Given the description of an element on the screen output the (x, y) to click on. 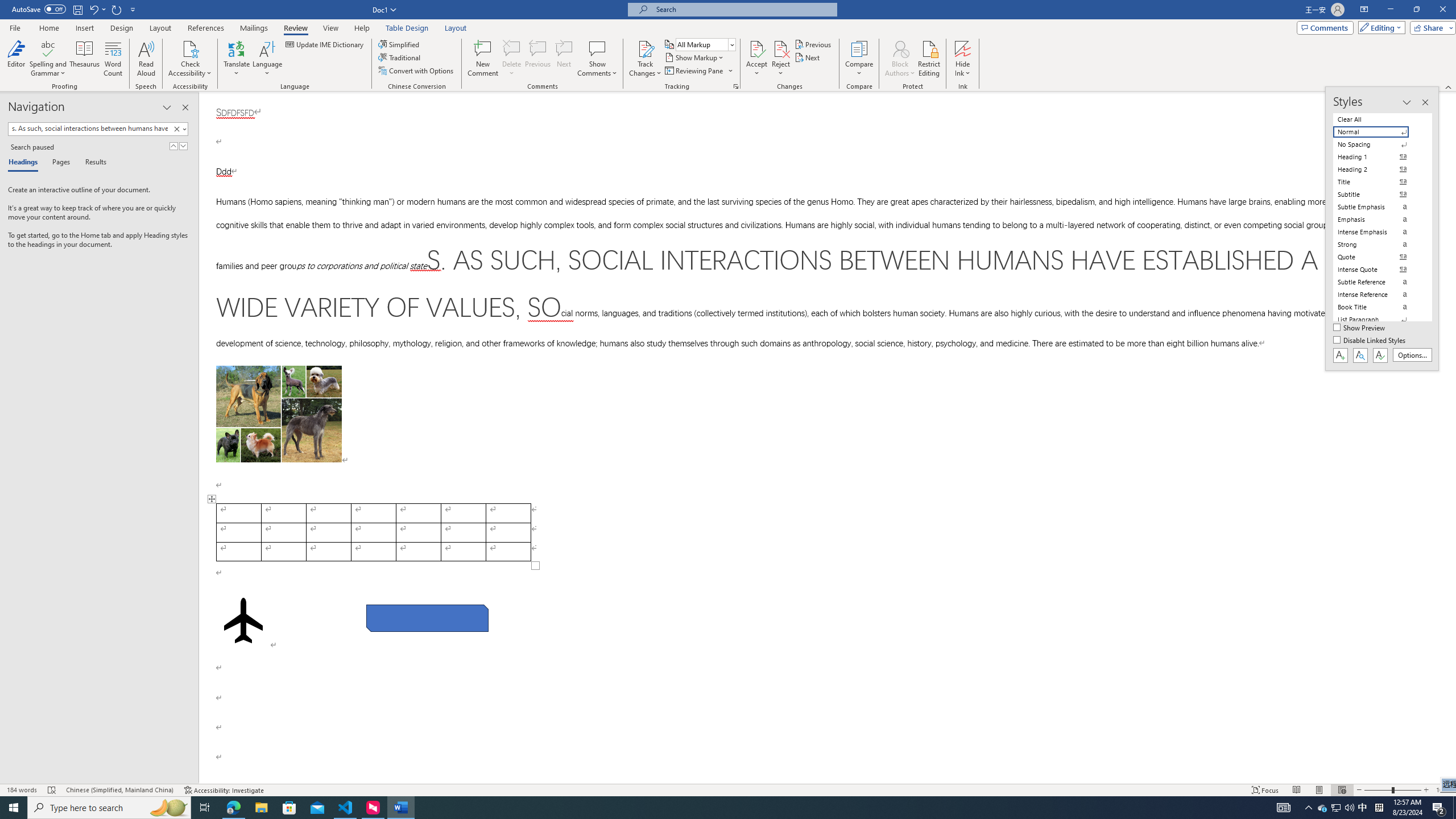
Repeat Style (117, 9)
Next (808, 56)
Show Markup (695, 56)
Delete (511, 58)
Book Title (1377, 306)
